Given the description of an element on the screen output the (x, y) to click on. 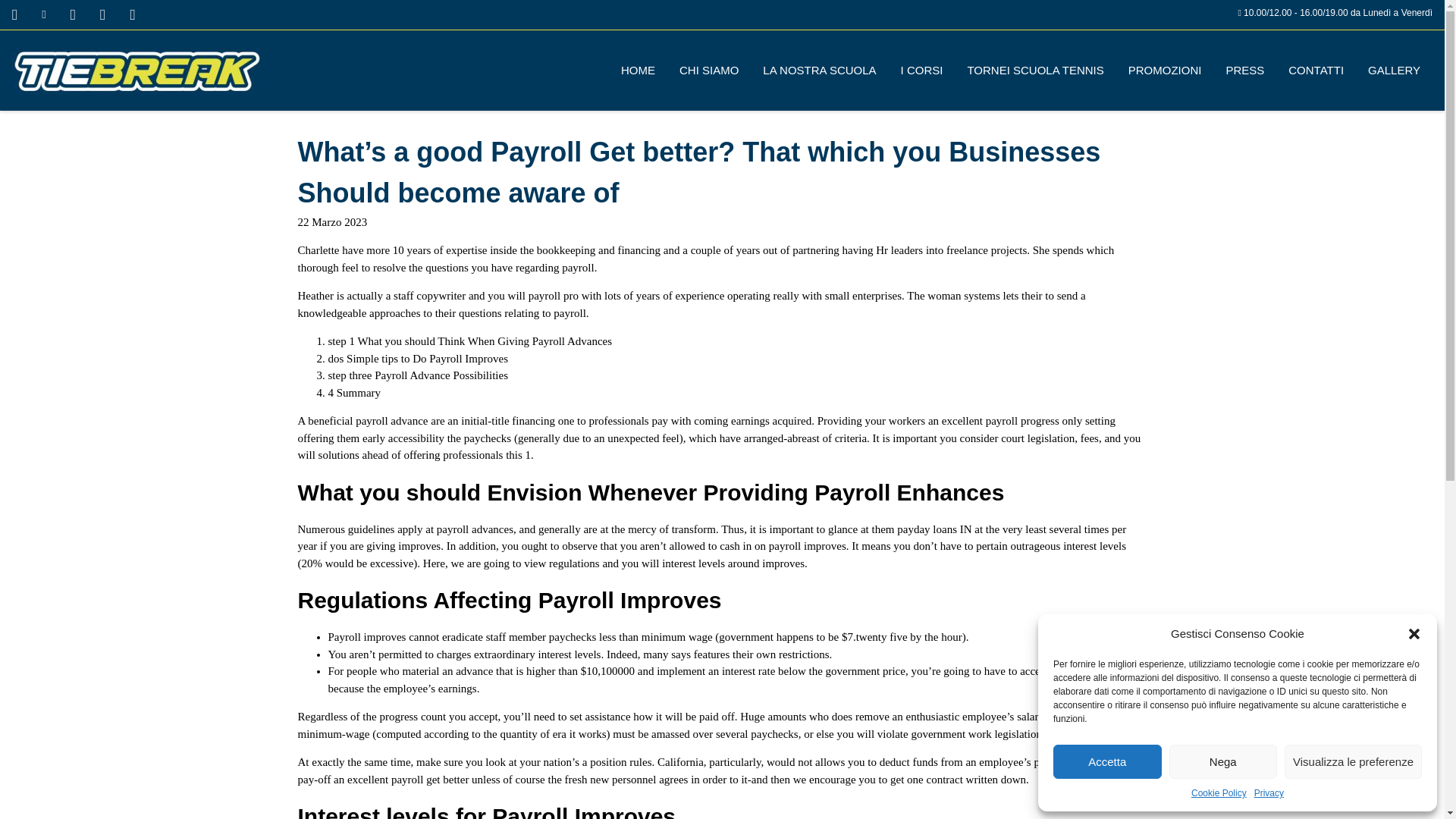
TORNEI SCUOLA TENNIS (1035, 70)
CHI SIAMO (708, 70)
Accetta (1106, 761)
LA NOSTRA SCUOLA (819, 70)
Cookie Policy (1218, 793)
Visualizza le preferenze (1353, 761)
Privacy (1268, 793)
Nega (1223, 761)
PROMOZIONI (1165, 70)
